Given the description of an element on the screen output the (x, y) to click on. 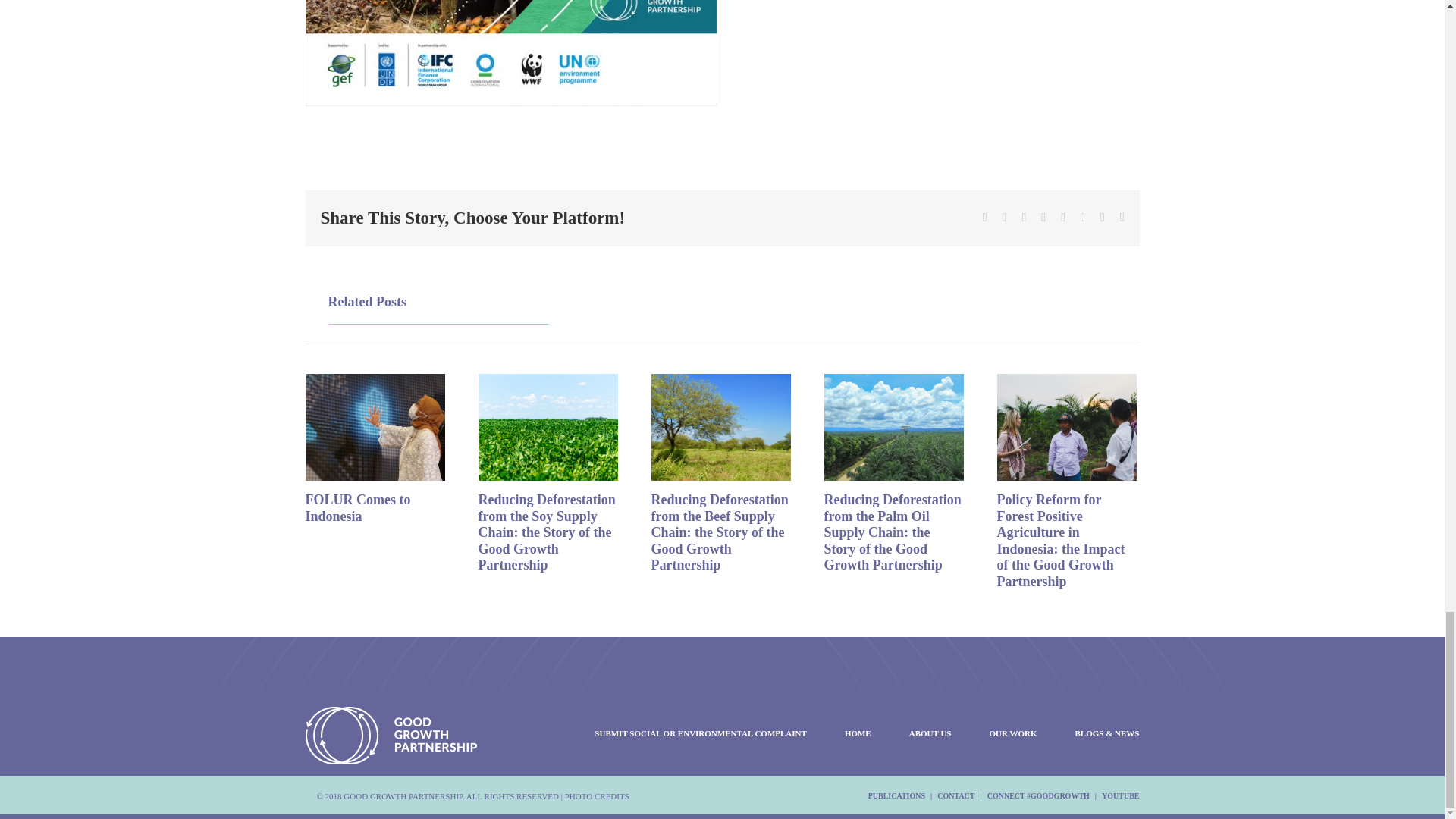
FOLUR Comes to Indonesia (357, 508)
